Given the description of an element on the screen output the (x, y) to click on. 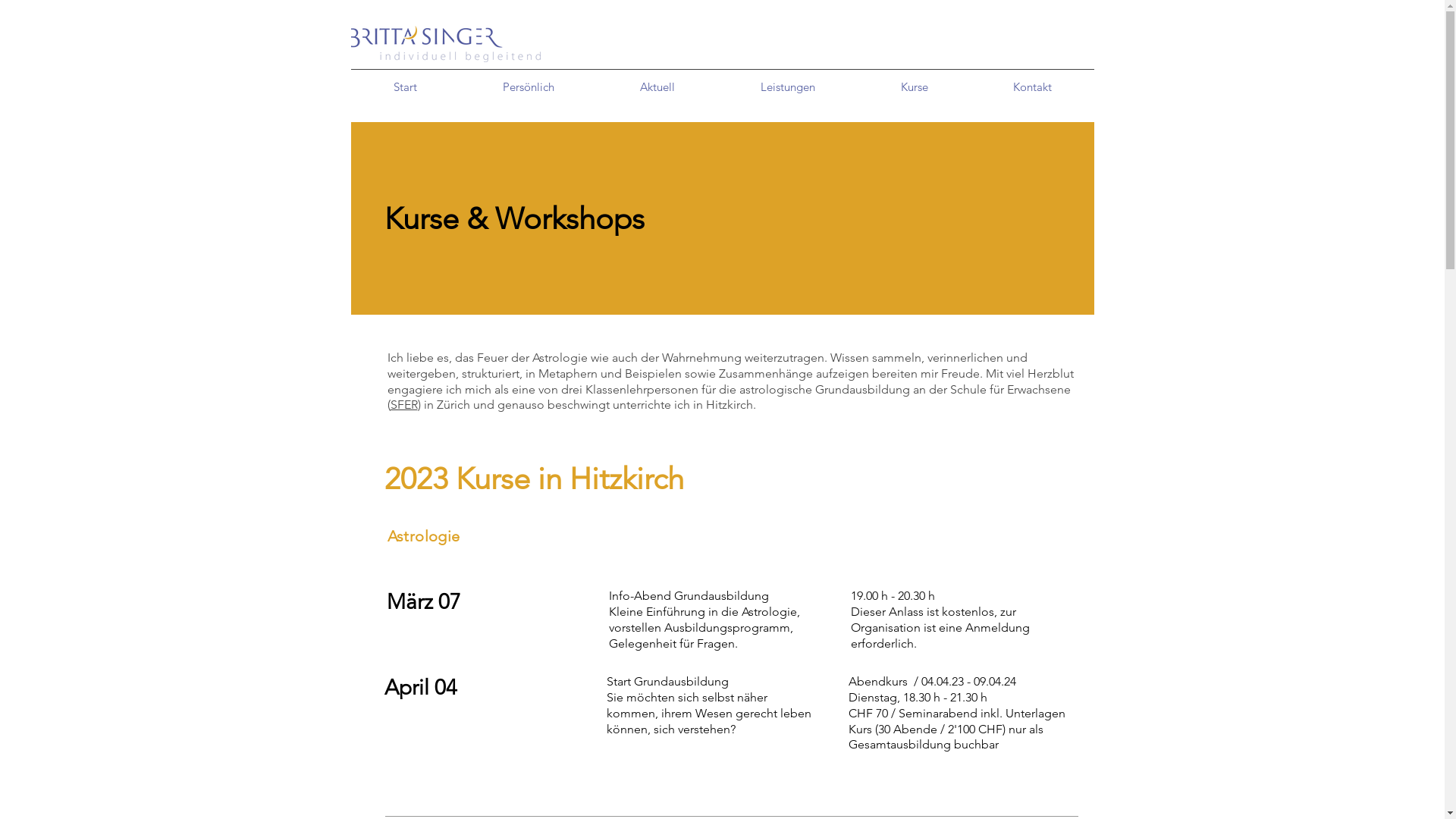
Leistungen Element type: text (787, 86)
Start Element type: text (404, 86)
Kurse Element type: text (914, 86)
SFER Element type: text (403, 404)
Kontakt Element type: text (1032, 86)
Aktuell Element type: text (657, 86)
